Given the description of an element on the screen output the (x, y) to click on. 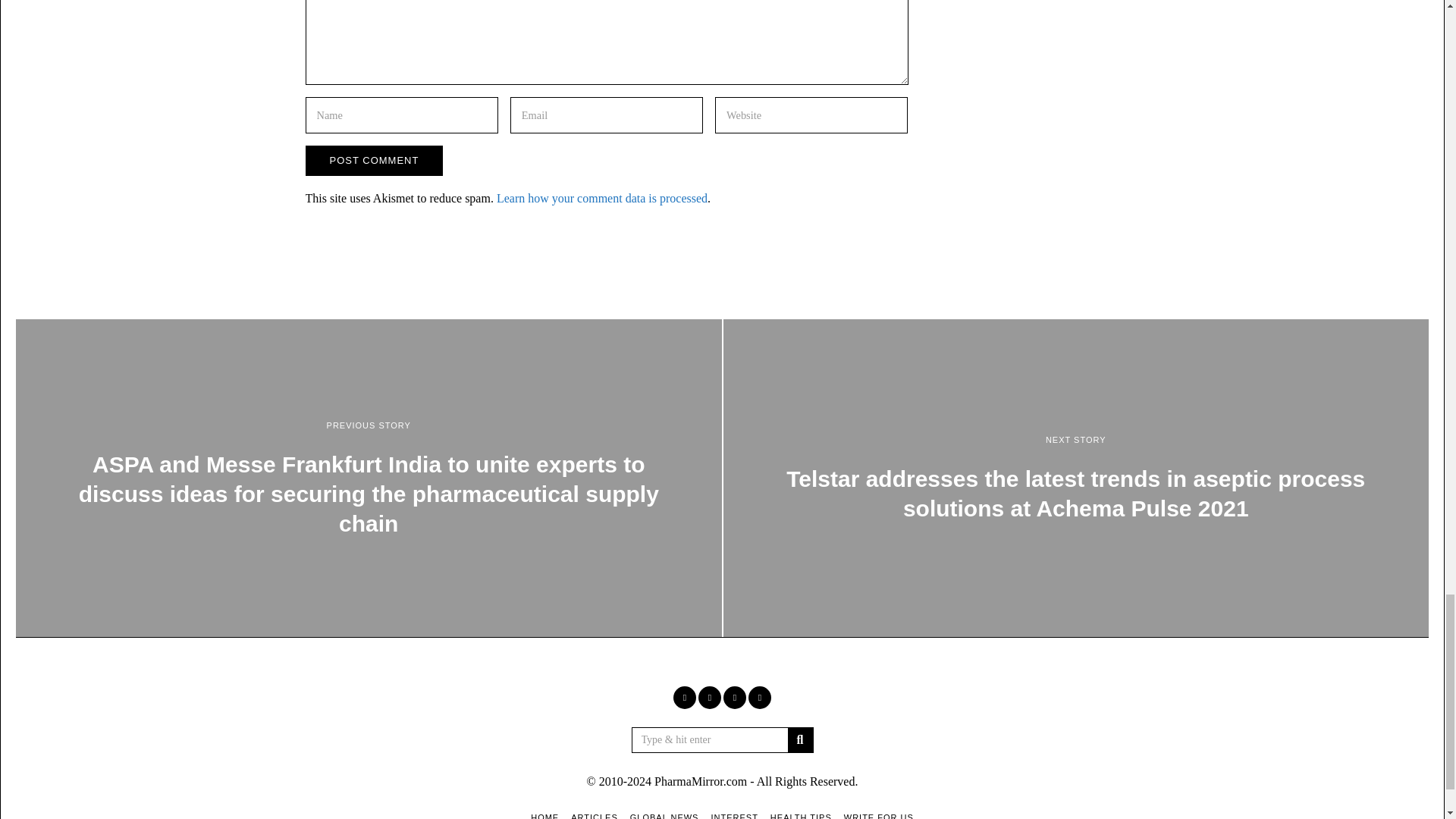
Email (759, 697)
Post Comment (373, 160)
Twitter (709, 697)
Post Comment (373, 160)
Facebook (683, 697)
Learn how your comment data is processed (601, 197)
Go (799, 739)
LinkedIn (734, 697)
